Given the description of an element on the screen output the (x, y) to click on. 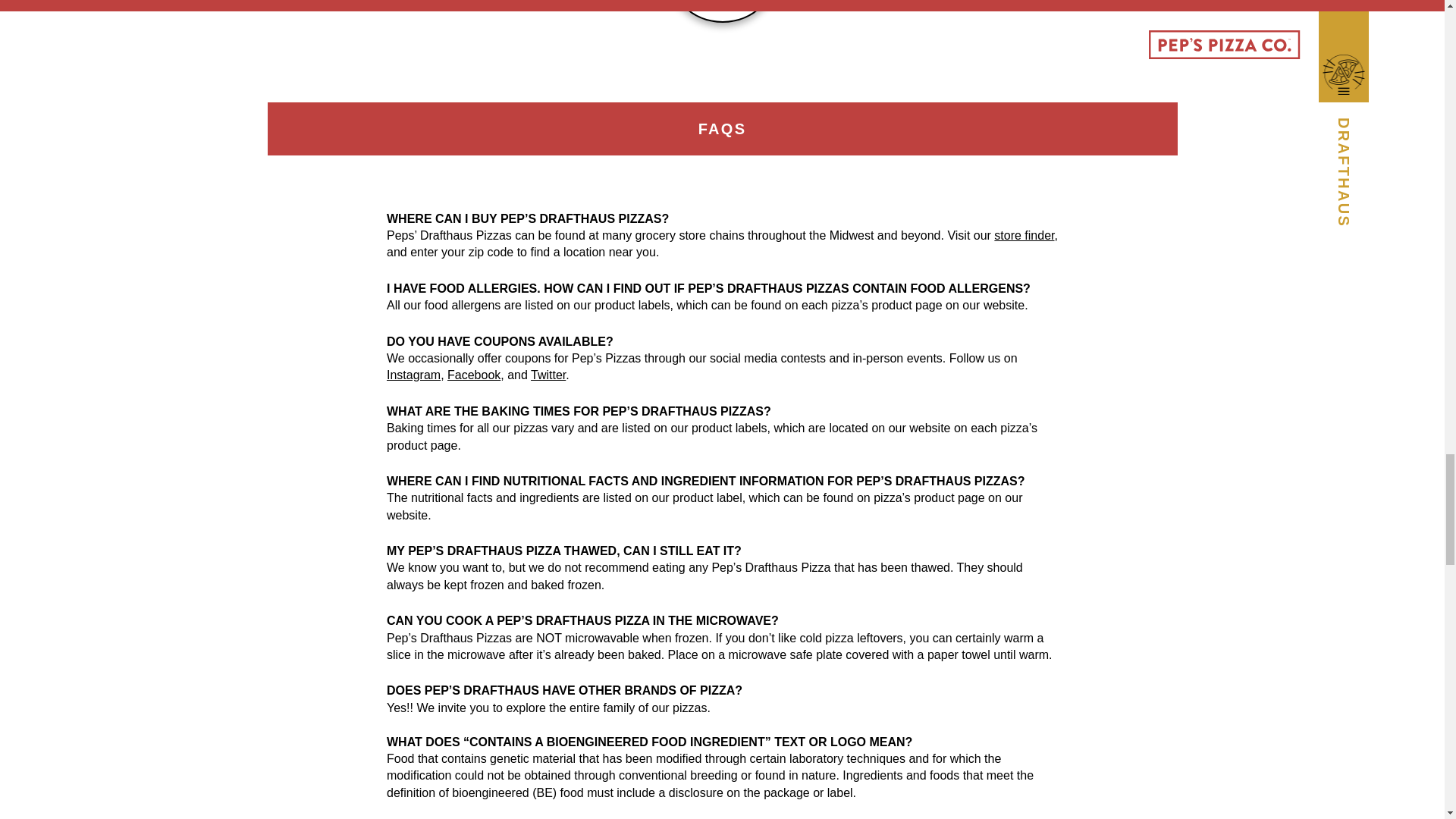
store finder (1024, 235)
Instagram (414, 374)
Twitter (548, 374)
Facebook (473, 374)
Find A Store (1024, 235)
